Given the description of an element on the screen output the (x, y) to click on. 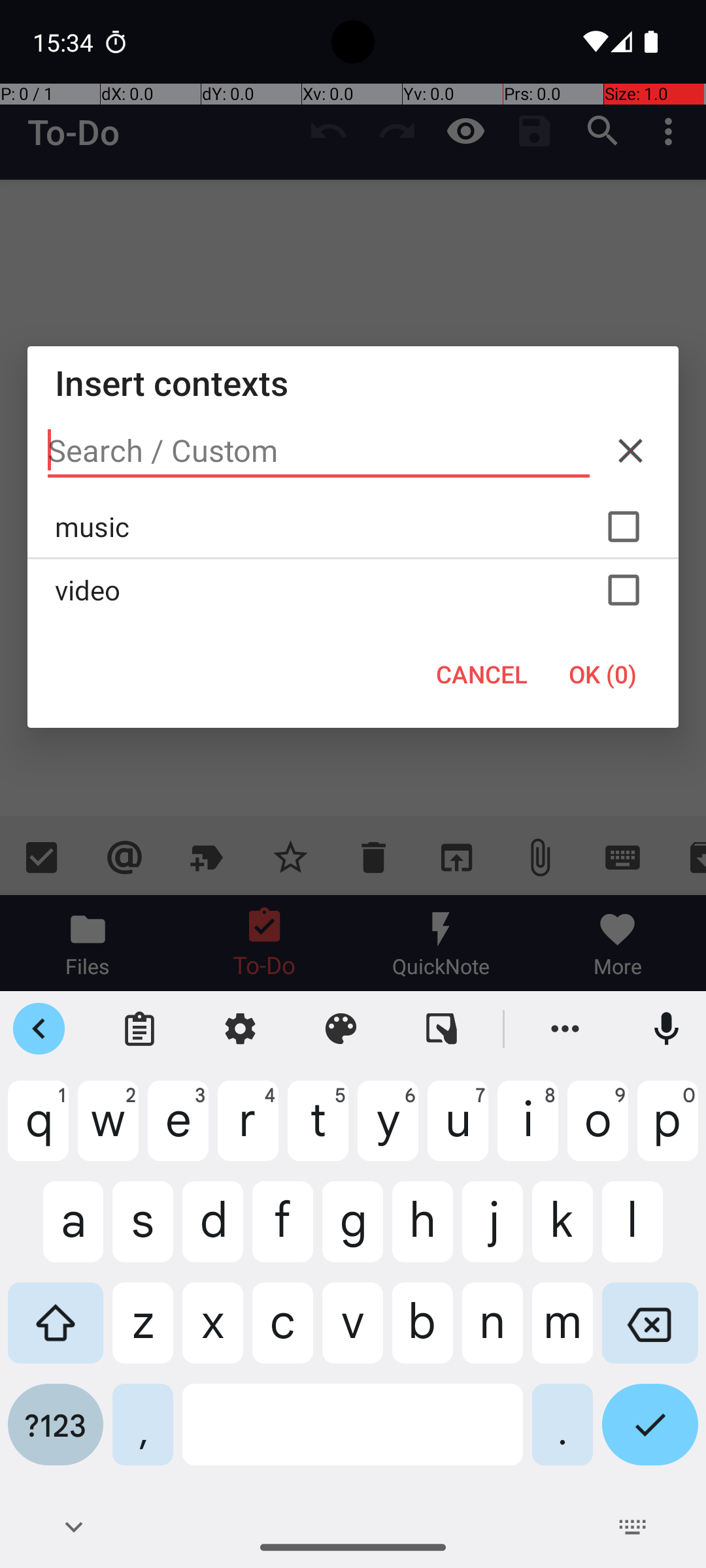
Insert contexts Element type: android.widget.TextView (352, 382)
Search / Custom Element type: android.widget.EditText (318, 450)
music Element type: android.widget.CheckedTextView (352, 526)
video Element type: android.widget.CheckedTextView (352, 589)
